Given the description of an element on the screen output the (x, y) to click on. 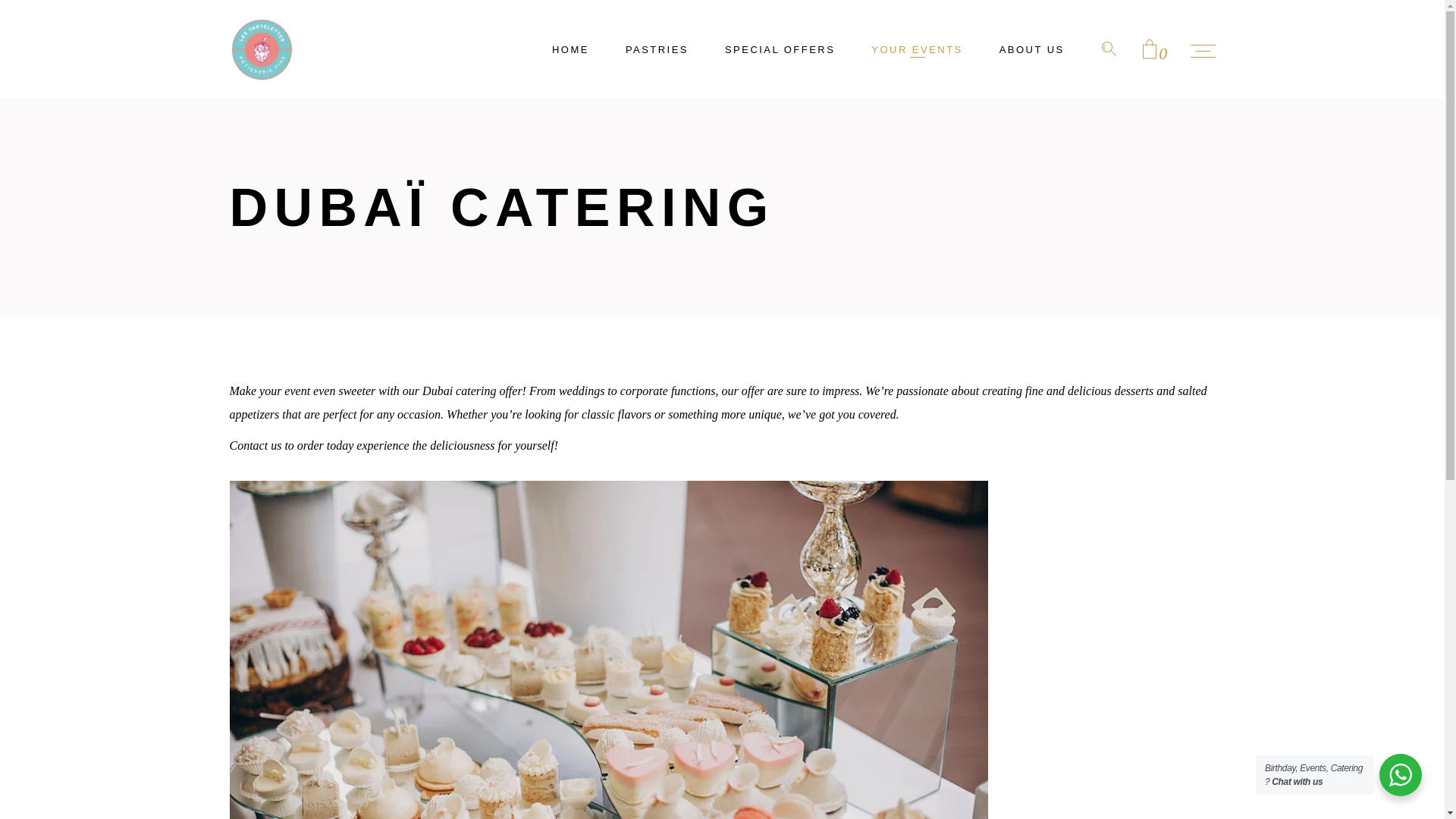
PASTRIES (656, 49)
SPECIAL OFFERS (779, 49)
HOME (570, 49)
ABOUT US (1032, 49)
YOUR EVENTS (916, 49)
